Given the description of an element on the screen output the (x, y) to click on. 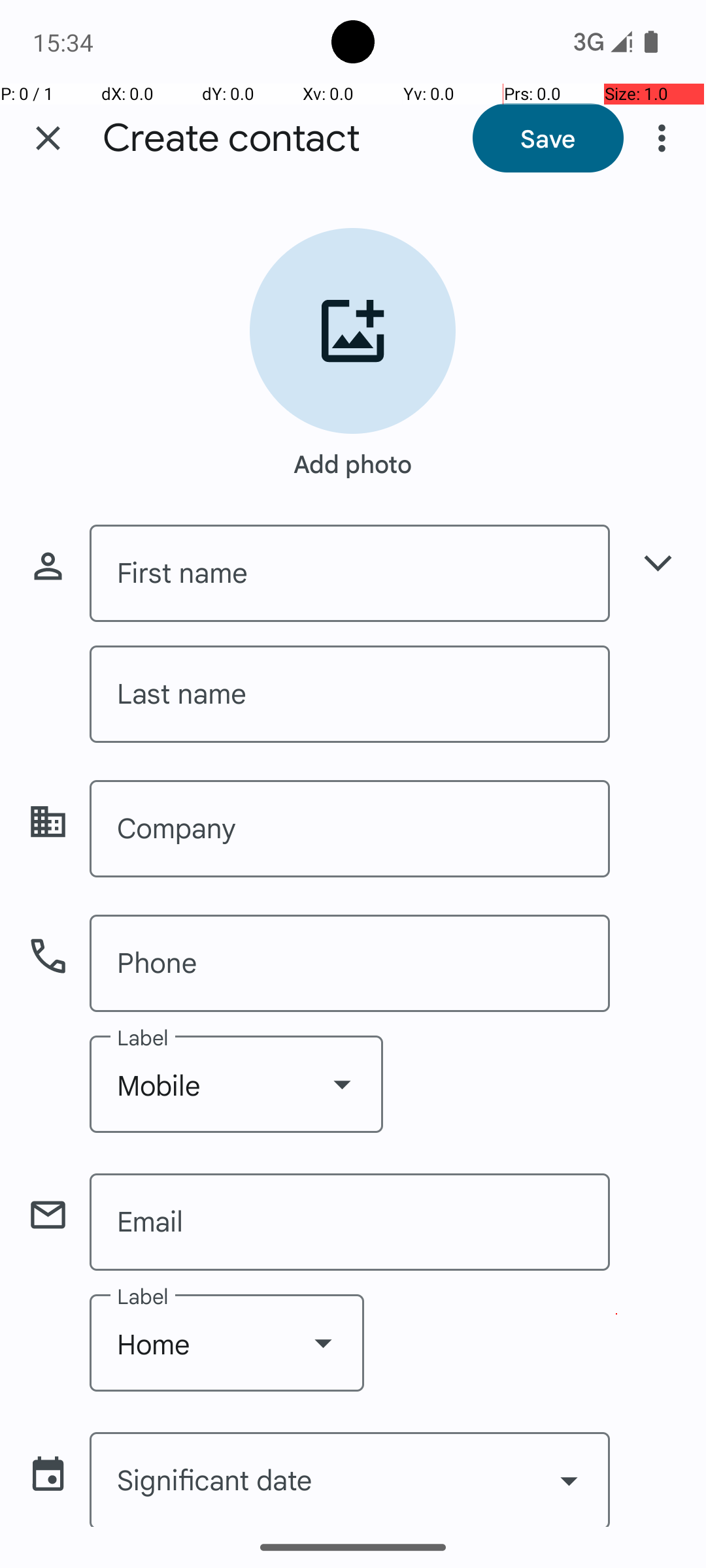
Create contact Element type: android.widget.TextView (231, 138)
Save Element type: android.widget.Button (547, 137)
First name Element type: android.widget.EditText (349, 572)
Last name Element type: android.widget.EditText (349, 693)
Company Element type: android.widget.EditText (349, 828)
Mobile Element type: android.widget.Spinner (236, 1083)
Show dropdown menu Element type: android.widget.ImageButton (341, 1083)
Email Element type: android.widget.EditText (349, 1221)
Significant date Element type: android.widget.EditText (349, 1479)
Show date picker Element type: android.widget.ImageButton (568, 1480)
Add contact photo Element type: android.widget.ImageView (352, 330)
Add photo Element type: android.widget.TextView (352, 456)
Show more name fields Element type: android.widget.ImageView (657, 562)
